Given the description of an element on the screen output the (x, y) to click on. 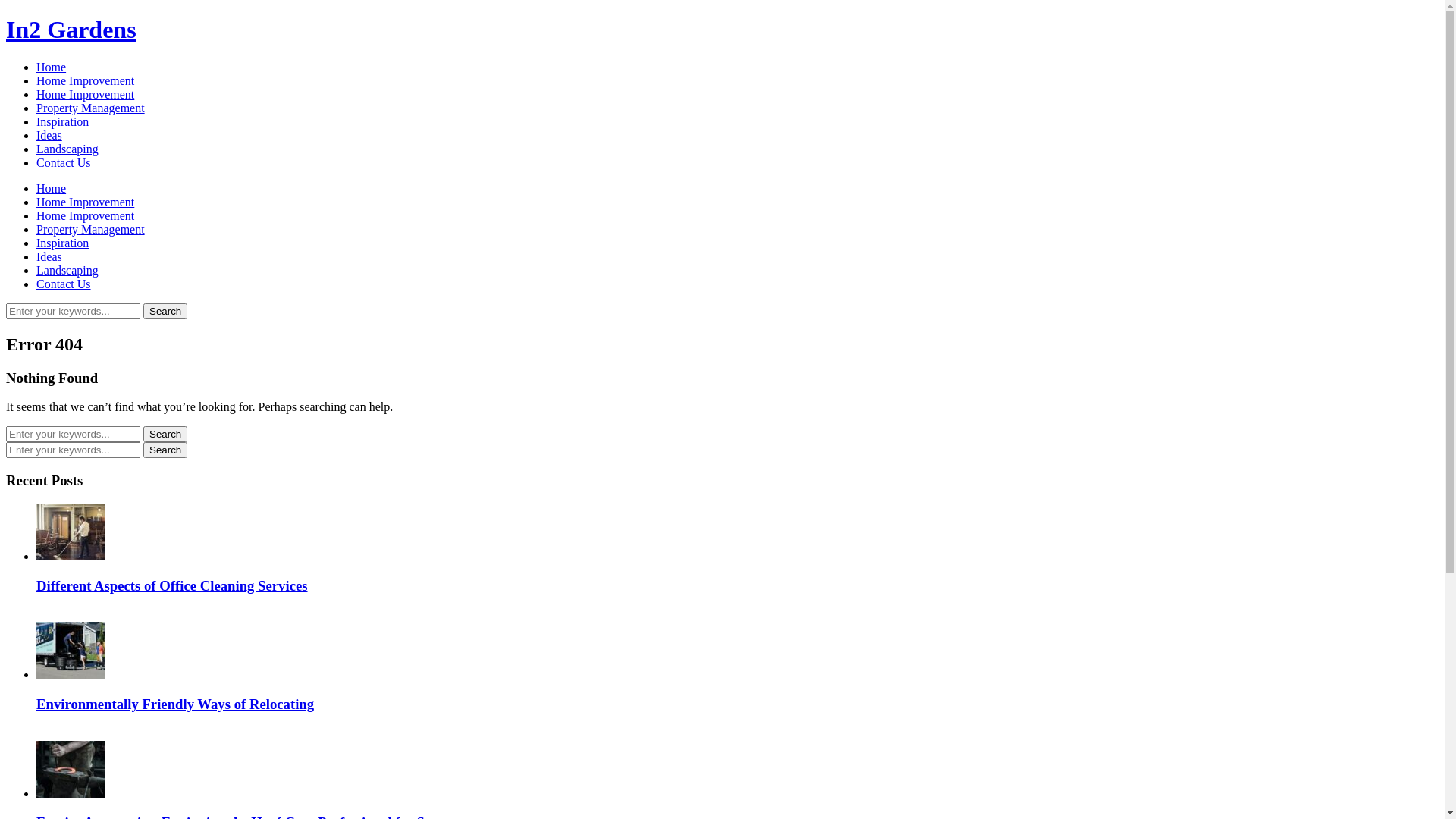
Inspiration Element type: text (62, 242)
Contact Us Element type: text (63, 162)
Landscaping Element type: text (67, 148)
Search Element type: text (165, 434)
Search Element type: text (165, 450)
Home Improvement Element type: text (85, 215)
Property Management Element type: text (90, 228)
Home Element type: text (50, 66)
Contact Us Element type: text (63, 283)
Ideas Element type: text (49, 134)
In2 Gardens Element type: text (71, 29)
Landscaping Element type: text (67, 269)
Different Aspects of Office Cleaning Services Element type: text (171, 585)
Property Management Element type: text (90, 107)
Home Element type: text (50, 188)
Home Improvement Element type: text (85, 201)
Inspiration Element type: text (62, 121)
Home Improvement Element type: text (85, 80)
Environmentally Friendly Ways of Relocating Element type: text (174, 704)
Search Element type: text (165, 311)
Ideas Element type: text (49, 256)
Home Improvement Element type: text (85, 93)
